Given the description of an element on the screen output the (x, y) to click on. 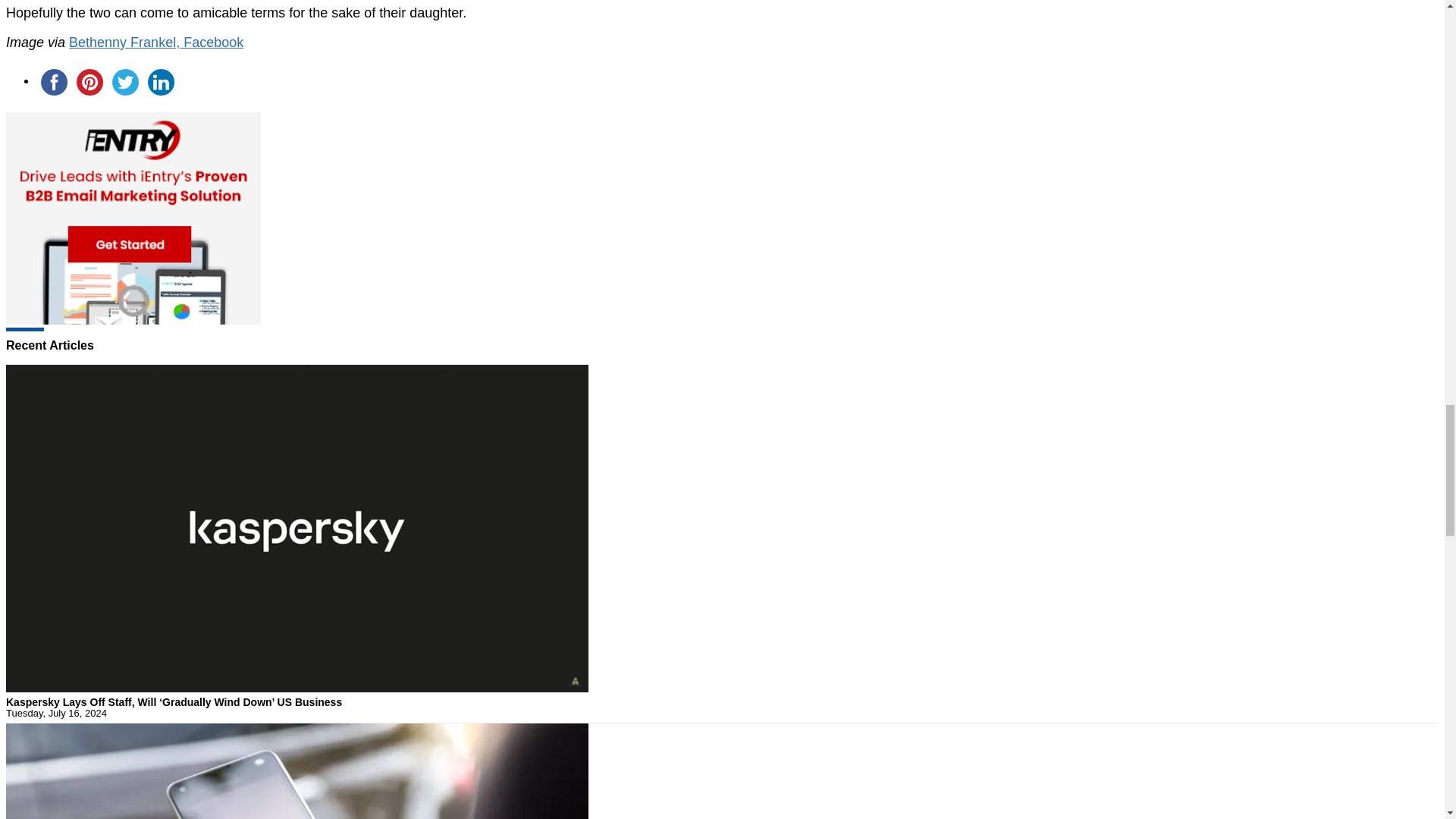
facebook (53, 81)
linkedin (160, 81)
twitter (124, 81)
pinterest (89, 81)
